Given the description of an element on the screen output the (x, y) to click on. 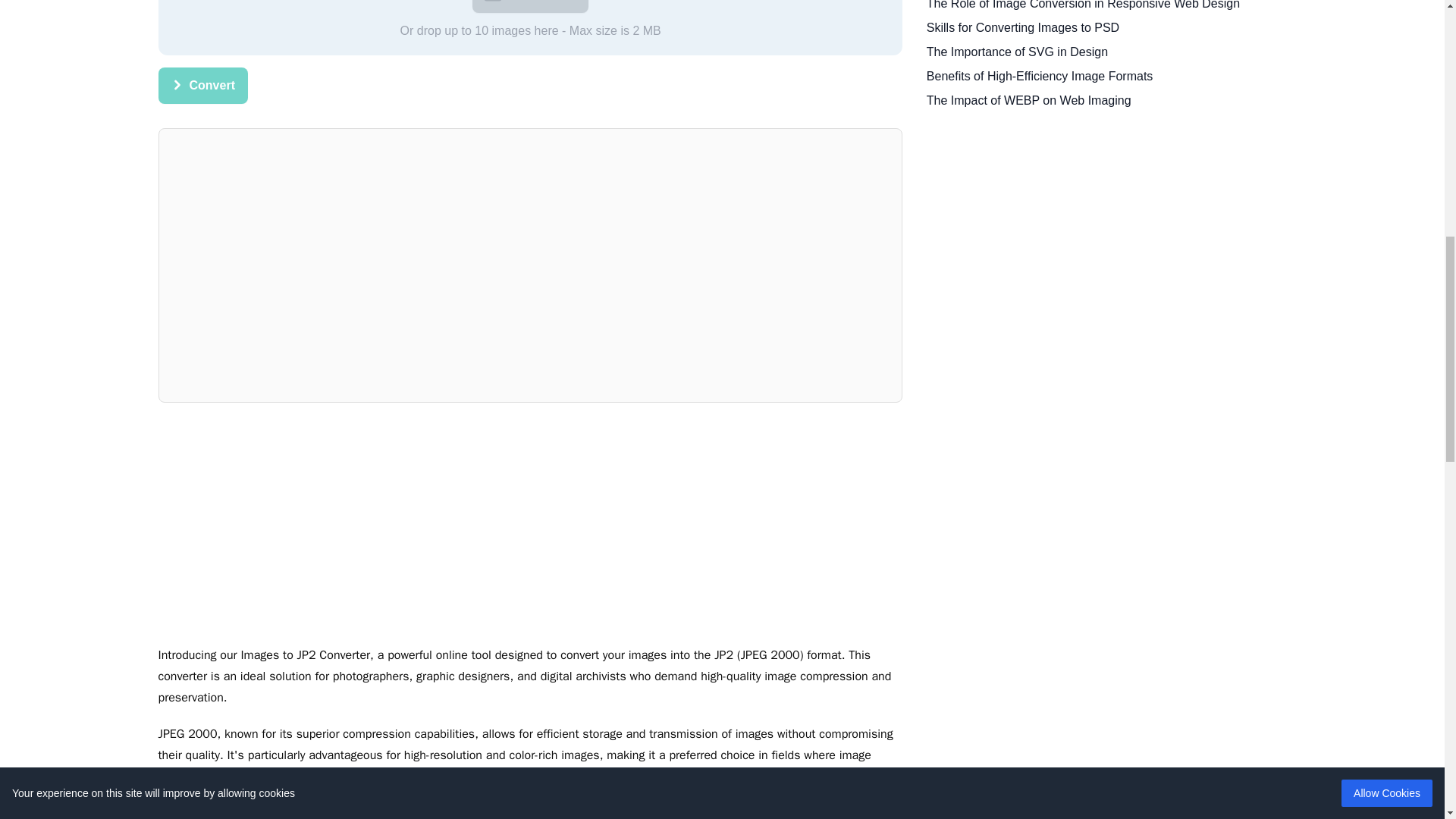
Convert (202, 85)
Browse Files (529, 6)
